Given the description of an element on the screen output the (x, y) to click on. 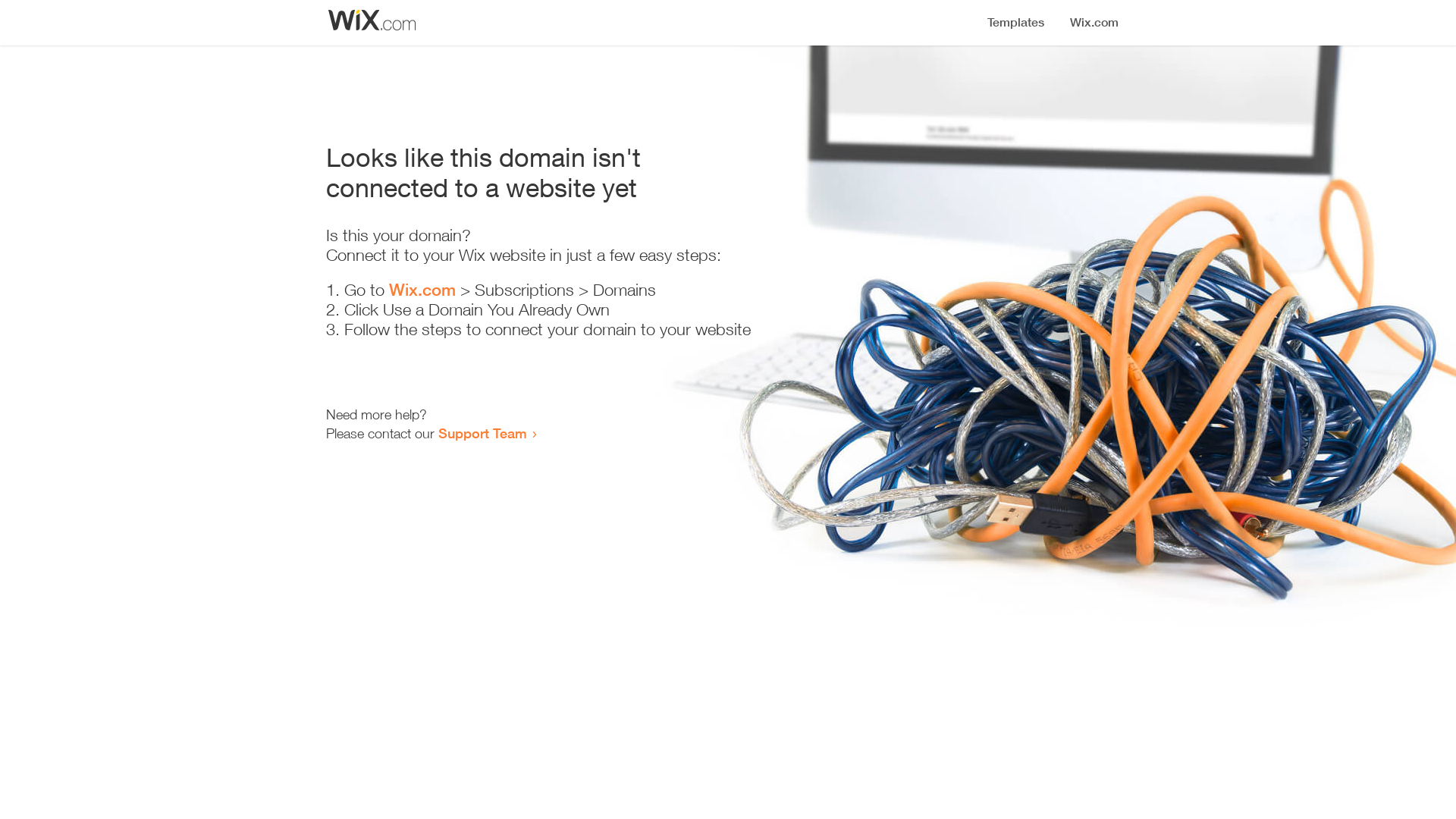
Support Team Element type: text (486, 434)
Wix.com Element type: text (422, 289)
